Given the description of an element on the screen output the (x, y) to click on. 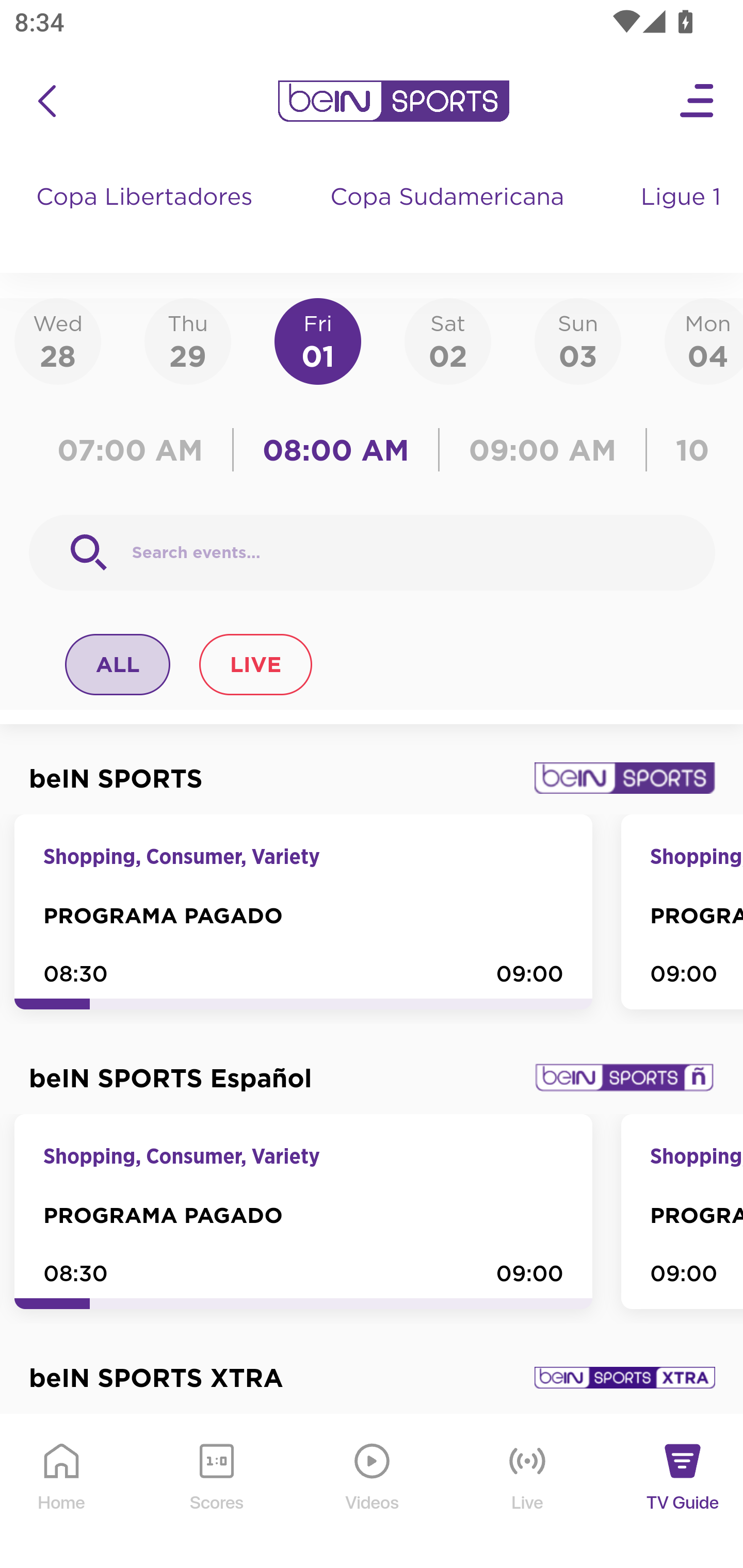
en-us?platform=mobile_android bein logo (392, 101)
icon back (46, 101)
Open Menu Icon (697, 101)
Copa Libertadores (146, 216)
Copa Sudamericana (448, 216)
Ligue 1 (682, 216)
Wed28 (58, 340)
Thu29 (187, 340)
Fri01 (318, 340)
Sat02 (447, 340)
Sun03 (578, 340)
Mon04 (703, 340)
07:00 AM (135, 449)
08:00 AM (336, 449)
09:00 AM (542, 449)
ALL (118, 663)
LIVE (255, 663)
Home Home Icon Home (61, 1491)
Scores Scores Icon Scores (216, 1491)
Videos Videos Icon Videos (372, 1491)
TV Guide TV Guide Icon TV Guide (682, 1491)
